Given the description of an element on the screen output the (x, y) to click on. 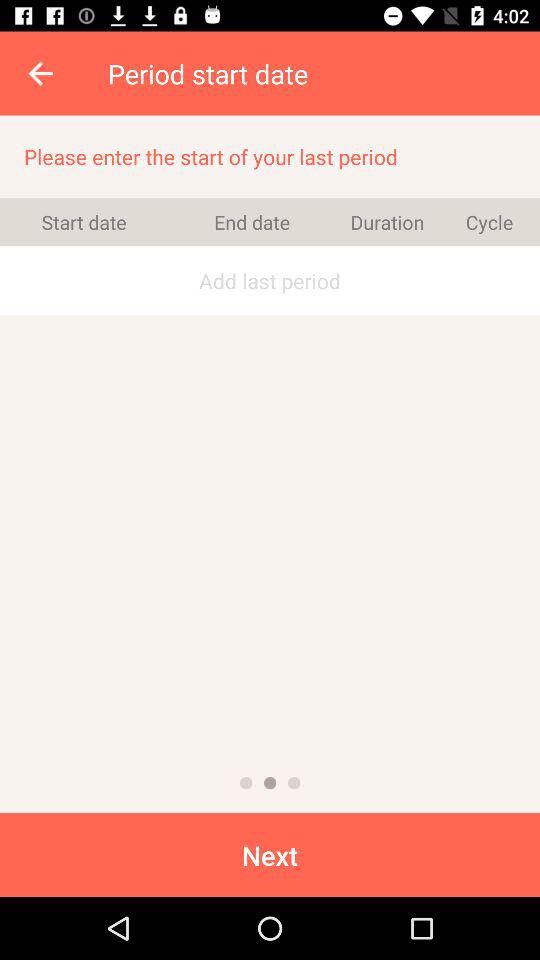
launch the icon above the next icon (246, 782)
